Given the description of an element on the screen output the (x, y) to click on. 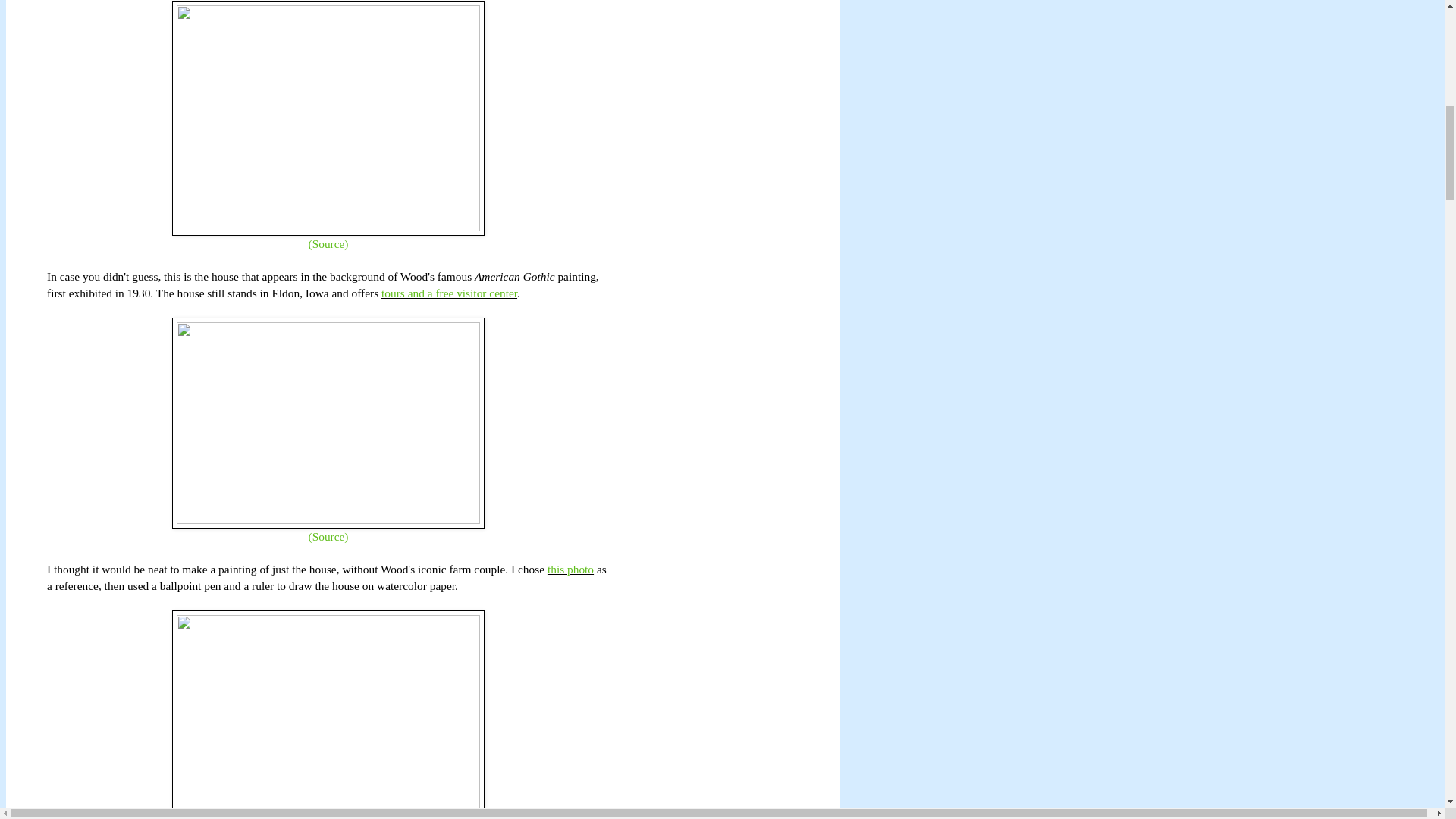
this photo (570, 568)
tours and a free visitor center (448, 292)
